Given the description of an element on the screen output the (x, y) to click on. 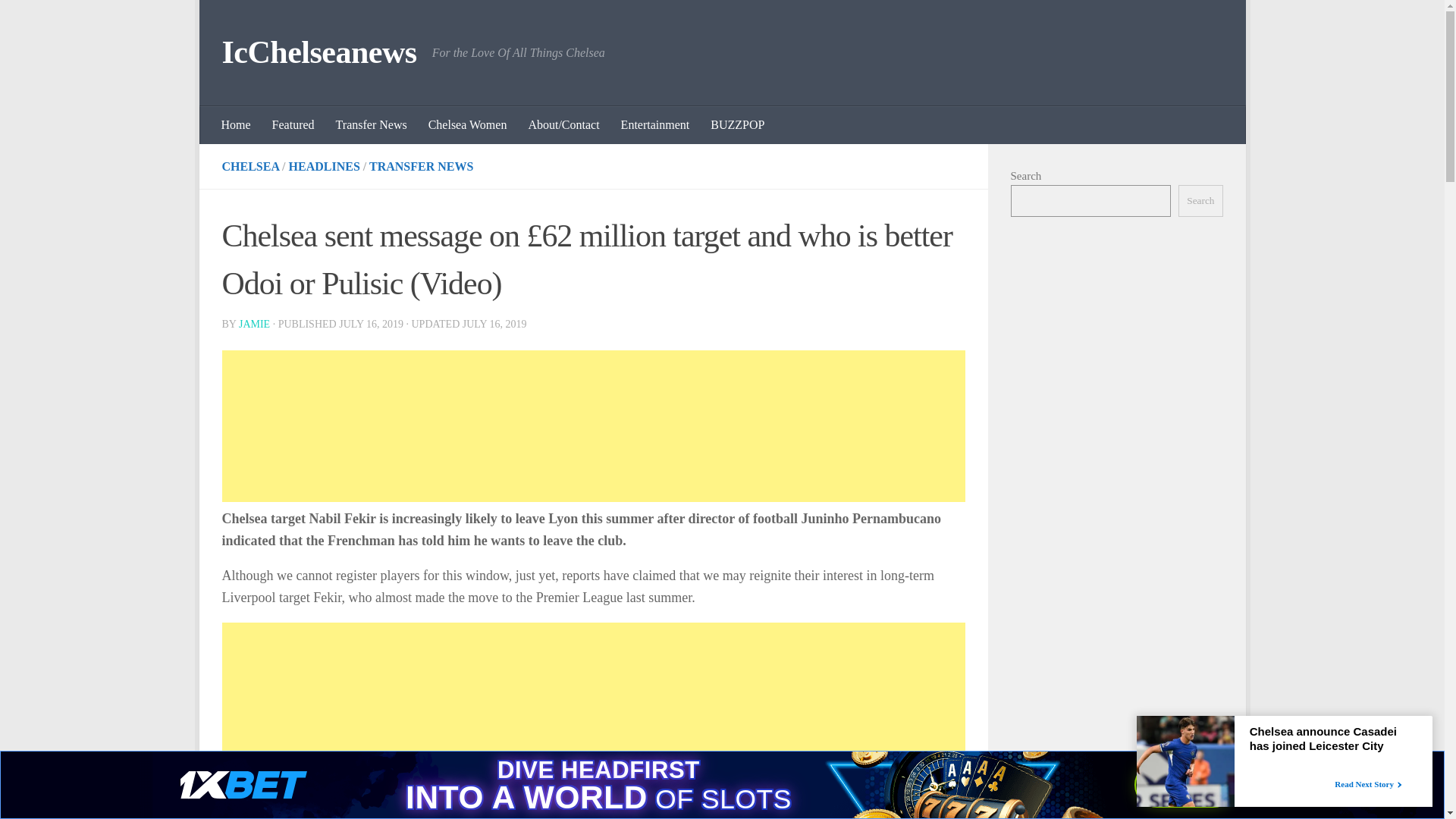
Below content (255, 20)
HEADLINES (323, 165)
Advertisement (592, 426)
CHELSEA (250, 165)
JAMIE (253, 324)
Featured (293, 125)
Advertisement (524, 720)
IcChelseanews (318, 53)
TRANSFER NEWS (421, 165)
Chelsea Women (467, 125)
Entertainment (655, 125)
Posts by Jamie (253, 324)
Home (236, 125)
BUZZPOP (737, 125)
Transfer News (370, 125)
